Given the description of an element on the screen output the (x, y) to click on. 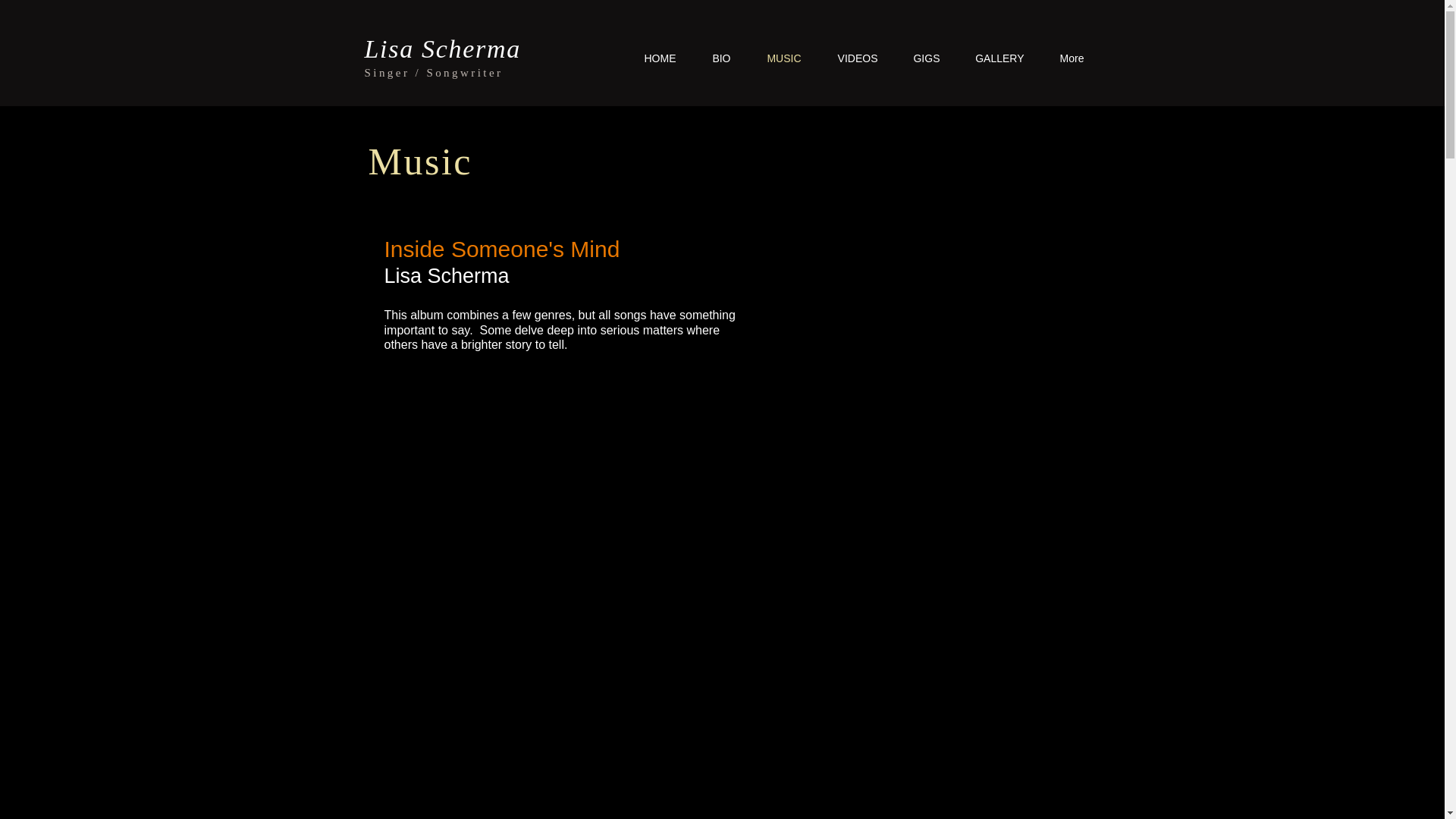
GIGS (917, 57)
GALLERY (991, 57)
BIO (712, 57)
VIDEOS (849, 57)
HOME (651, 57)
Lisa Scherma (441, 49)
MUSIC (774, 57)
